Given the description of an element on the screen output the (x, y) to click on. 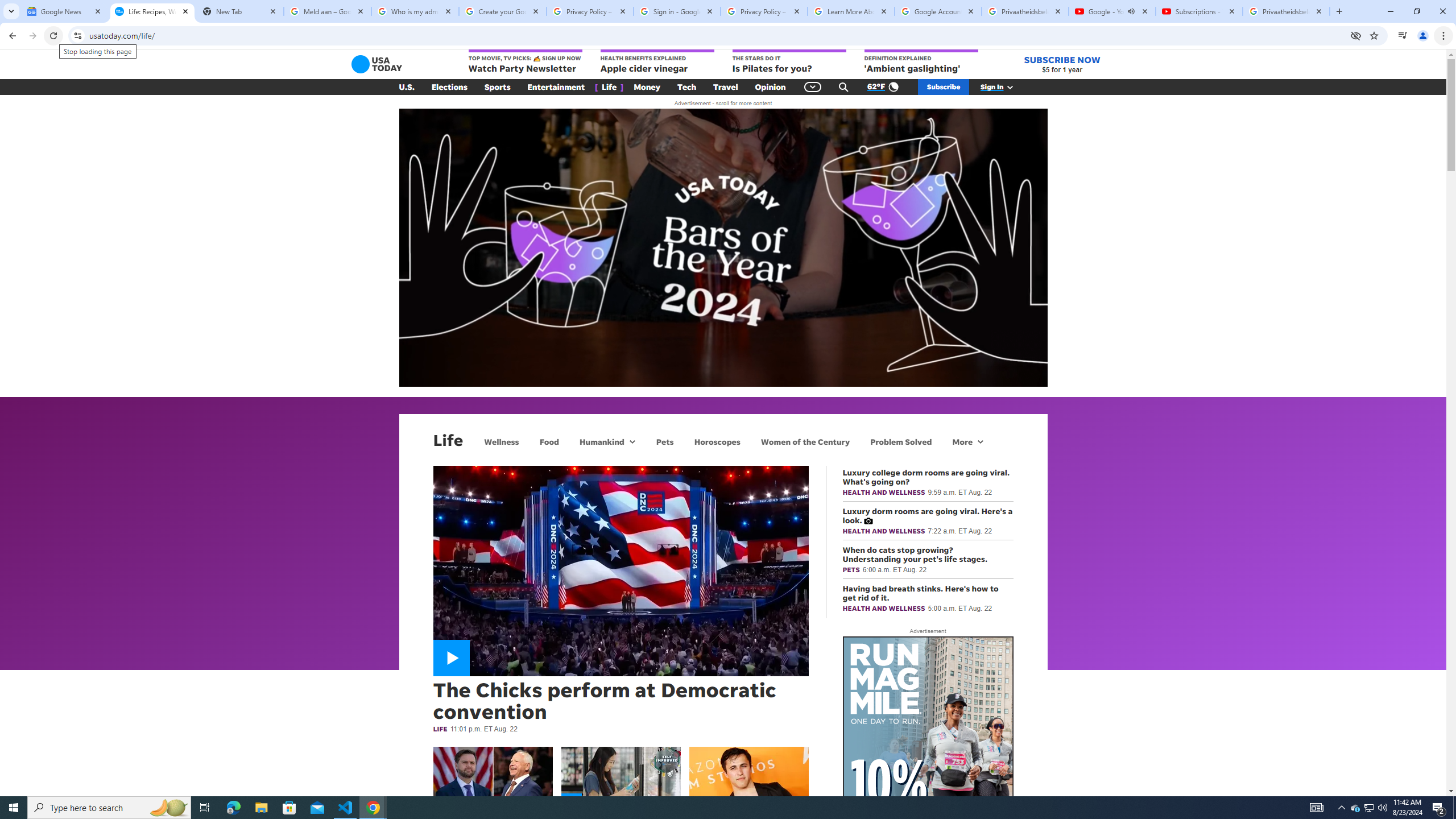
Opinion (770, 87)
Google Account (938, 11)
Horoscopes (717, 441)
Mute tab (1130, 10)
Money (646, 87)
Pets (664, 441)
